Given the description of an element on the screen output the (x, y) to click on. 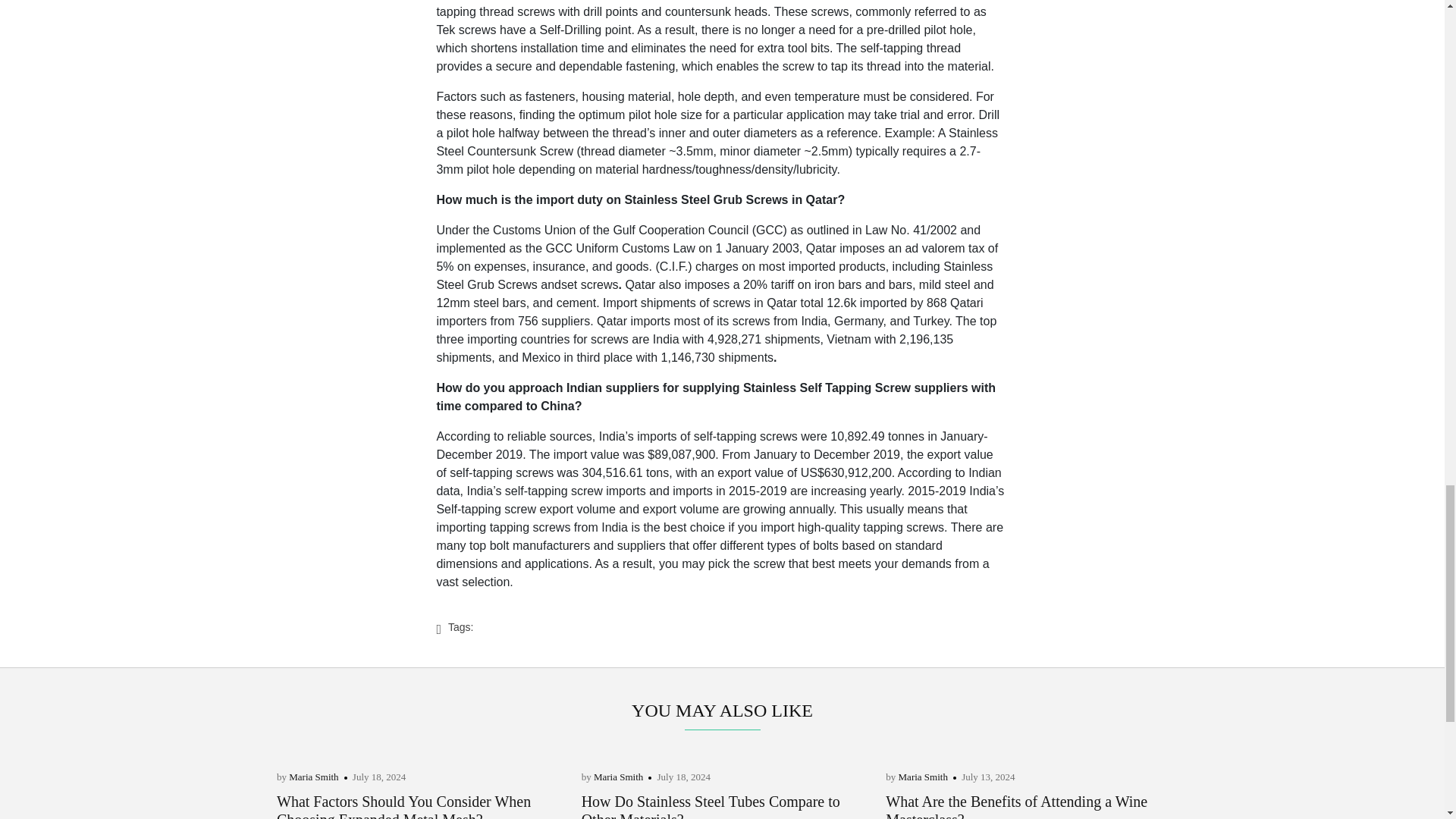
How Do Stainless Steel Tubes Compare to Other Materials? (710, 806)
How Do Stainless Steel Tubes Compare to Other Materials? (710, 806)
What Are the Benefits of Attending a Wine Masterclass? (1016, 806)
